Given the description of an element on the screen output the (x, y) to click on. 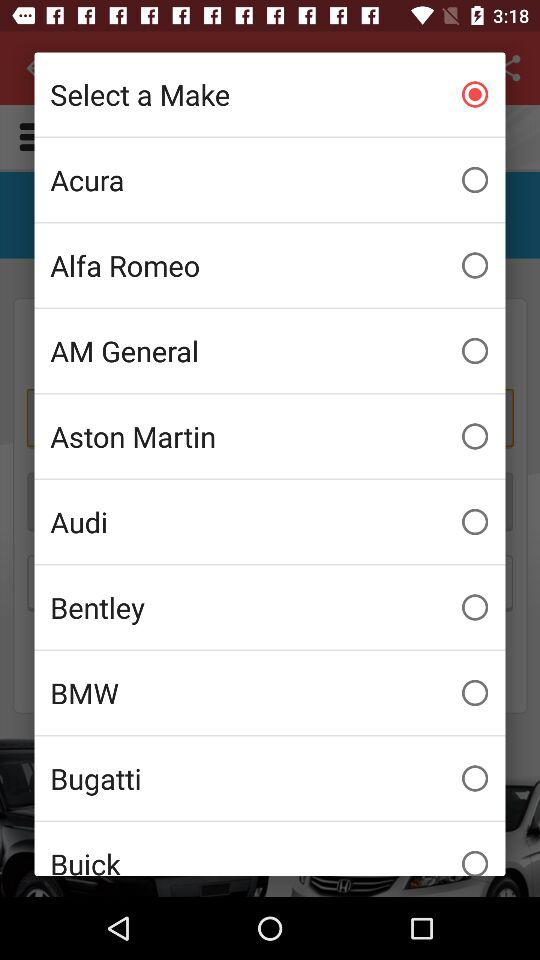
press icon above the bugatti icon (269, 693)
